Given the description of an element on the screen output the (x, y) to click on. 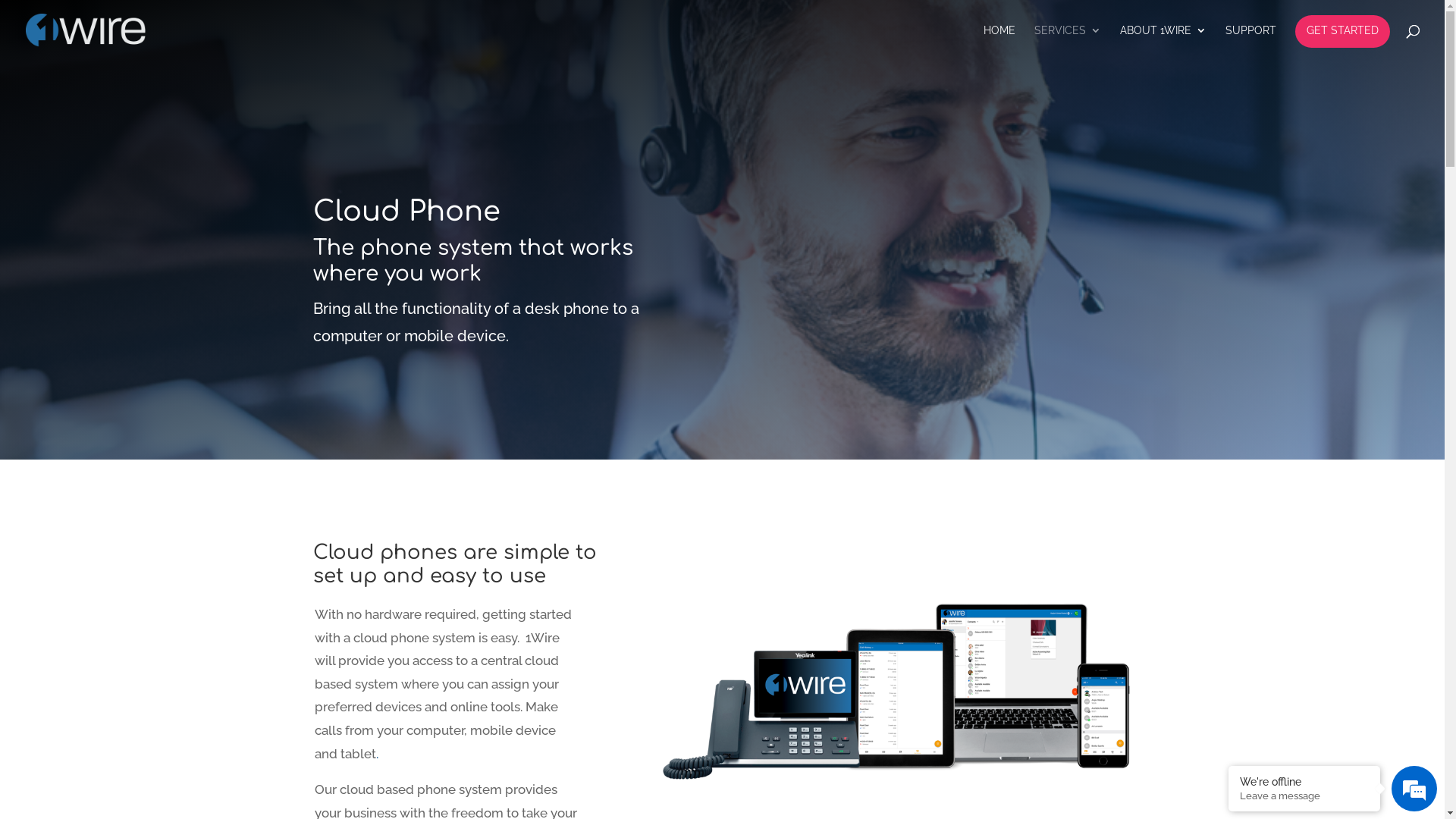
SERVICES Element type: text (1067, 42)
SUPPORT Element type: text (1250, 42)
.  Element type: text (378, 753)
ABOUT 1WIRE Element type: text (1163, 42)
HOME Element type: text (999, 42)
GET STARTED Element type: text (1342, 31)
cloud phone devices Element type: hover (894, 691)
